Given the description of an element on the screen output the (x, y) to click on. 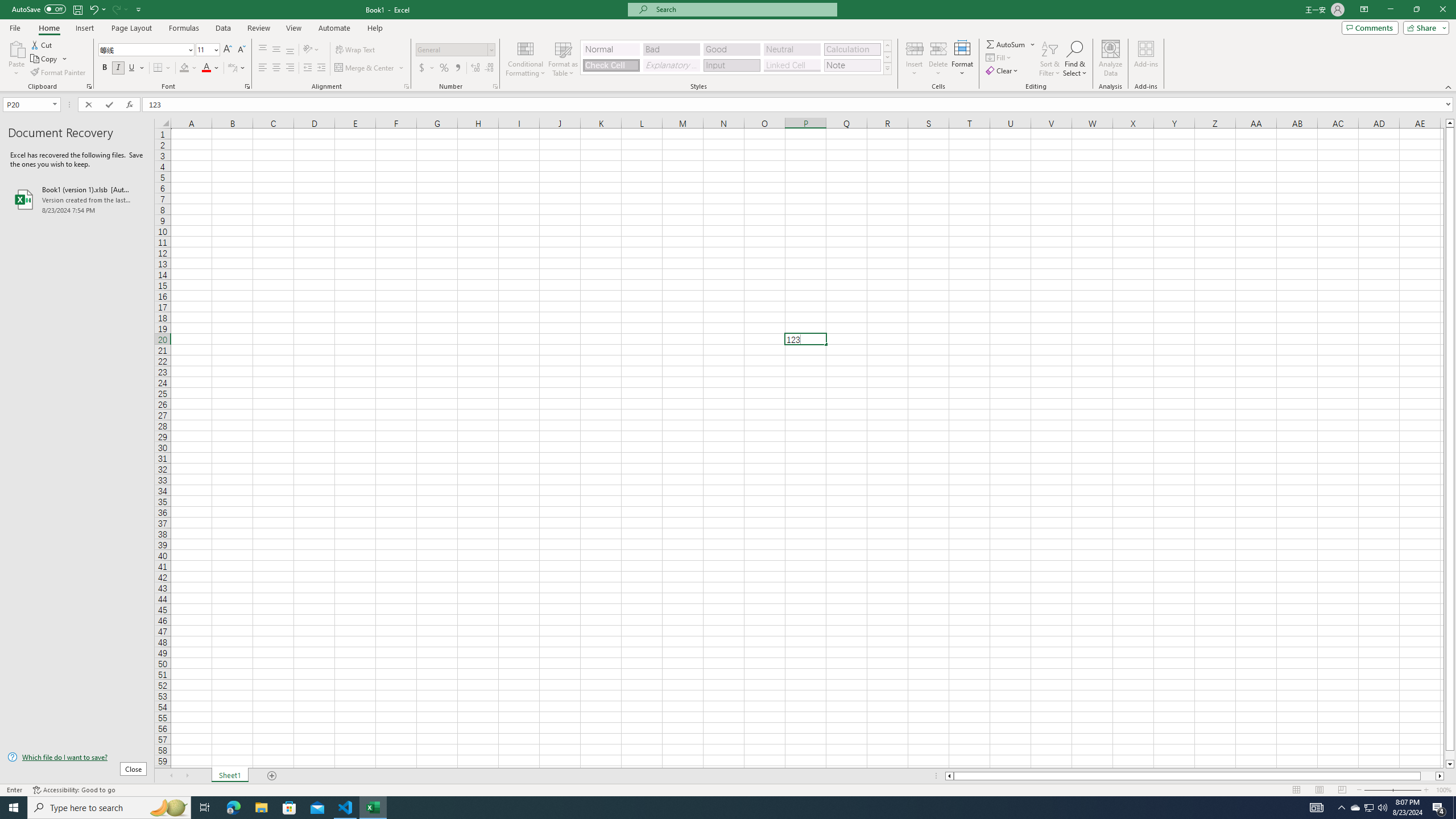
Paste (16, 48)
Linked Cell (791, 65)
Font Color (210, 67)
Neutral (791, 49)
Input (731, 65)
Percent Style (443, 67)
Copy (45, 58)
Bold (104, 67)
